Given the description of an element on the screen output the (x, y) to click on. 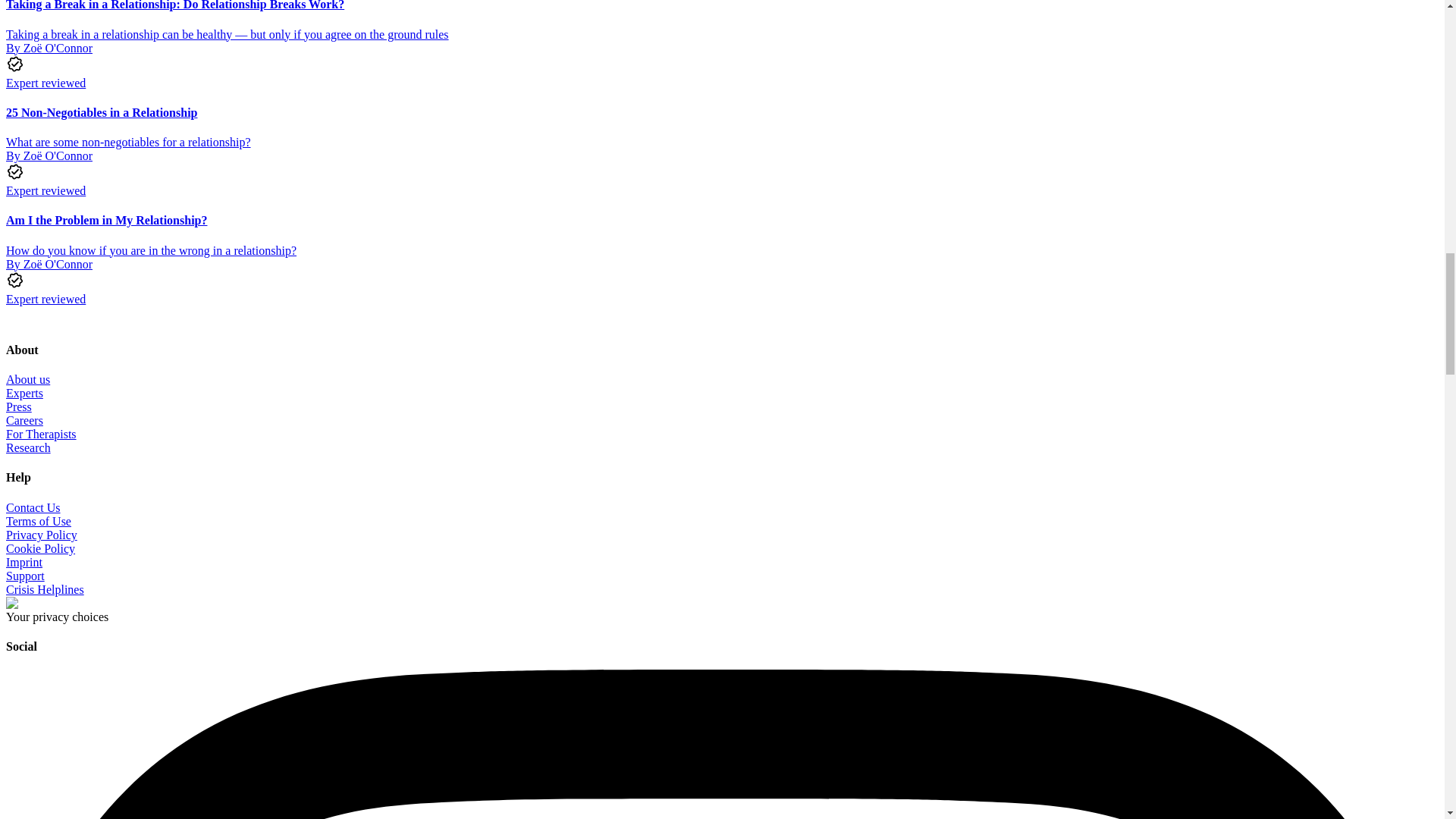
For Therapists (41, 433)
Contact Us (33, 507)
Careers (24, 420)
Press (18, 406)
Experts (24, 392)
Research (27, 447)
About us (27, 379)
